Given the description of an element on the screen output the (x, y) to click on. 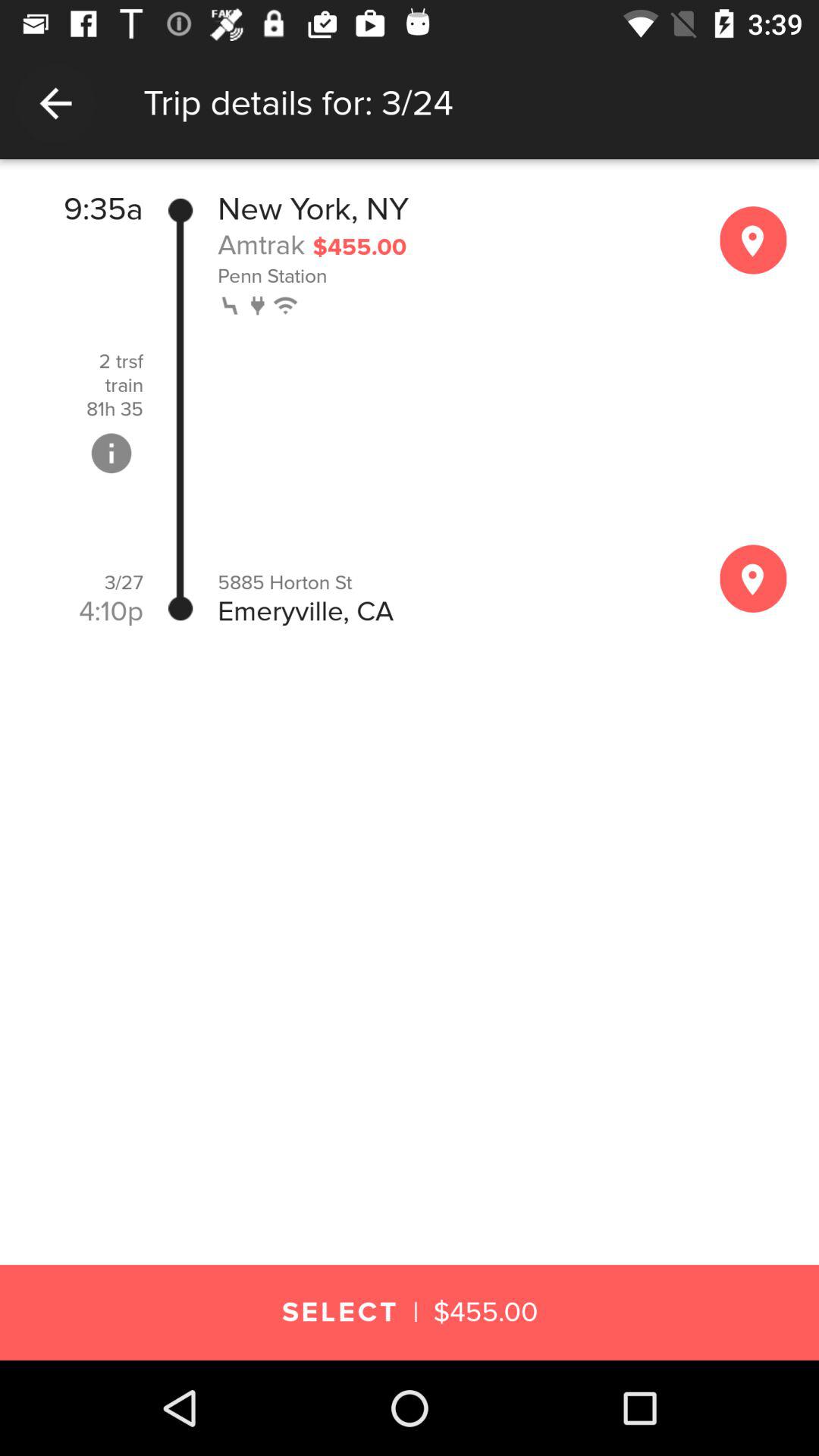
click location image (753, 578)
